Given the description of an element on the screen output the (x, y) to click on. 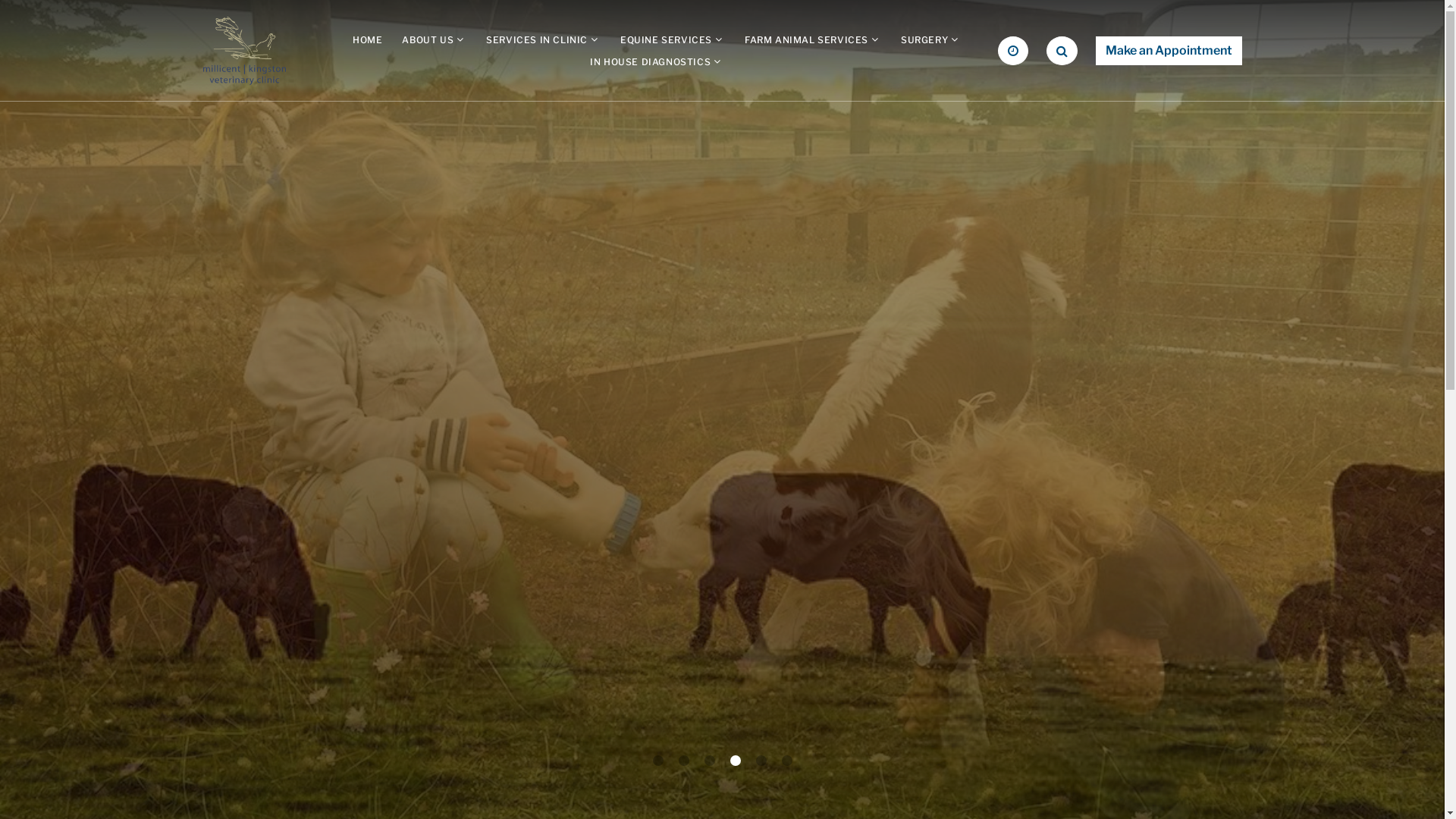
SERVICES IN CLINIC Element type: text (536, 39)
SURGERY Element type: text (923, 39)
ABOUT US Element type: text (427, 39)
EQUINE SERVICES Element type: text (666, 39)
FARM ANIMAL SERVICES Element type: text (806, 39)
Make an Appointment Element type: text (1168, 50)
HOME Element type: text (367, 39)
IN HOUSE DIAGNOSTICS Element type: text (649, 61)
